Given the description of an element on the screen output the (x, y) to click on. 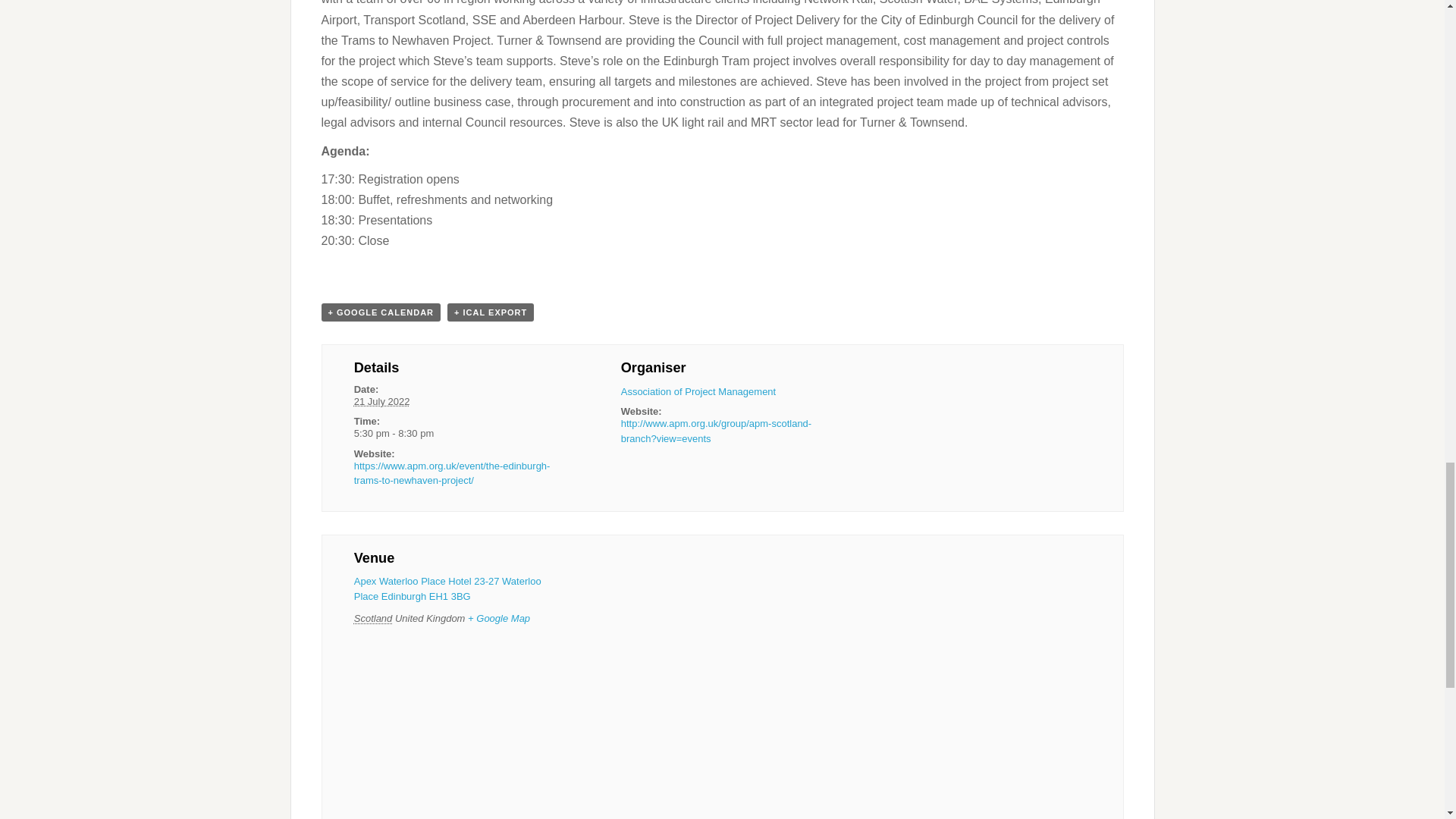
Association of Project Management (698, 391)
2022-07-21 (455, 433)
2022-07-21 (381, 401)
Scotland (373, 618)
Association of Project Management (698, 391)
Add to Google Calendar (381, 312)
Click to view a Google Map (498, 618)
Download .ics file (490, 312)
